Given the description of an element on the screen output the (x, y) to click on. 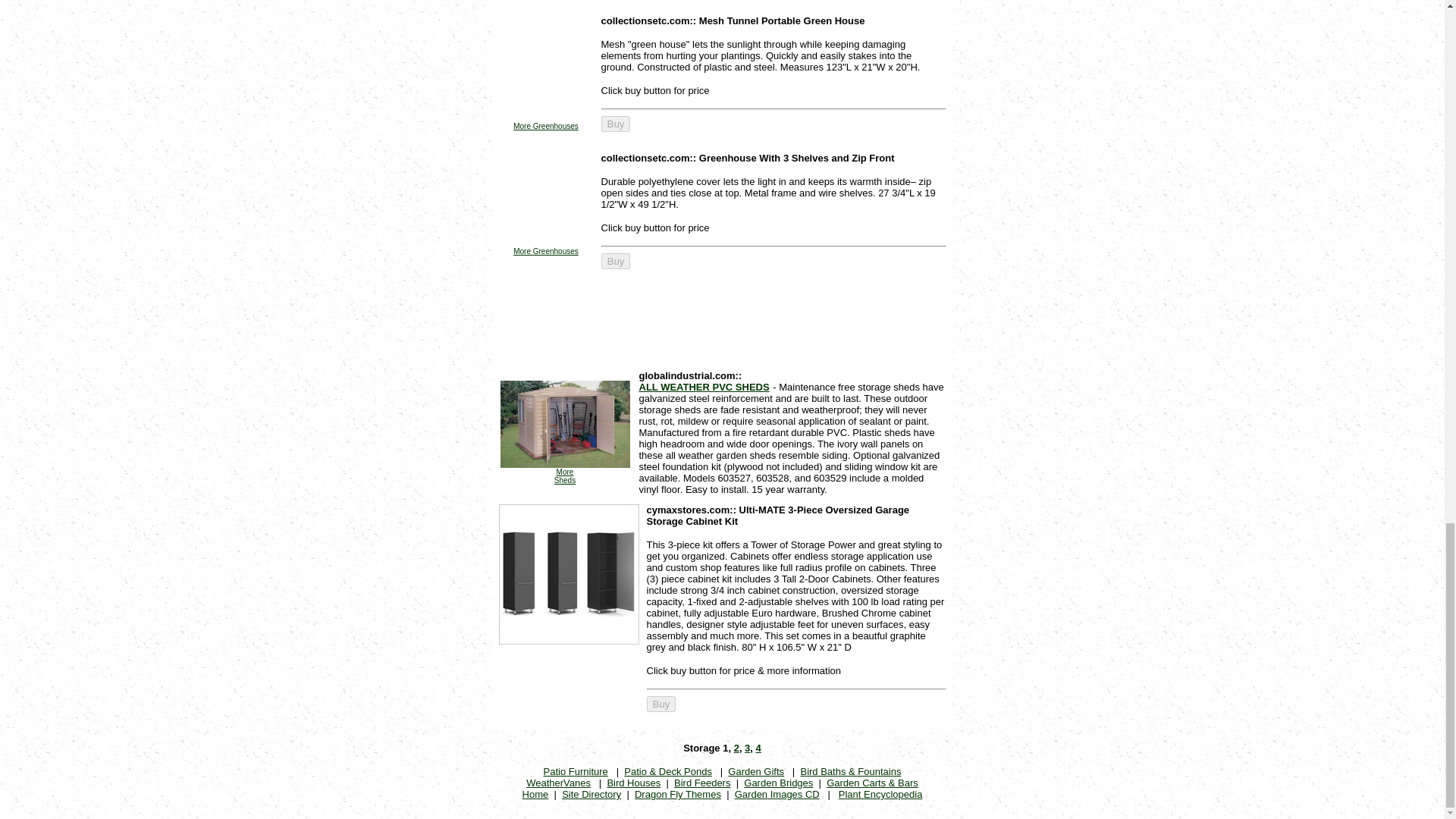
ALL WEATHER PVC SHEDS (703, 387)
Buy (614, 261)
More (564, 471)
Buy (614, 261)
More Greenhouses (545, 126)
Sheds (564, 479)
More Greenhouses (545, 251)
Buy (614, 123)
Buy (614, 123)
Buy (660, 703)
